Given the description of an element on the screen output the (x, y) to click on. 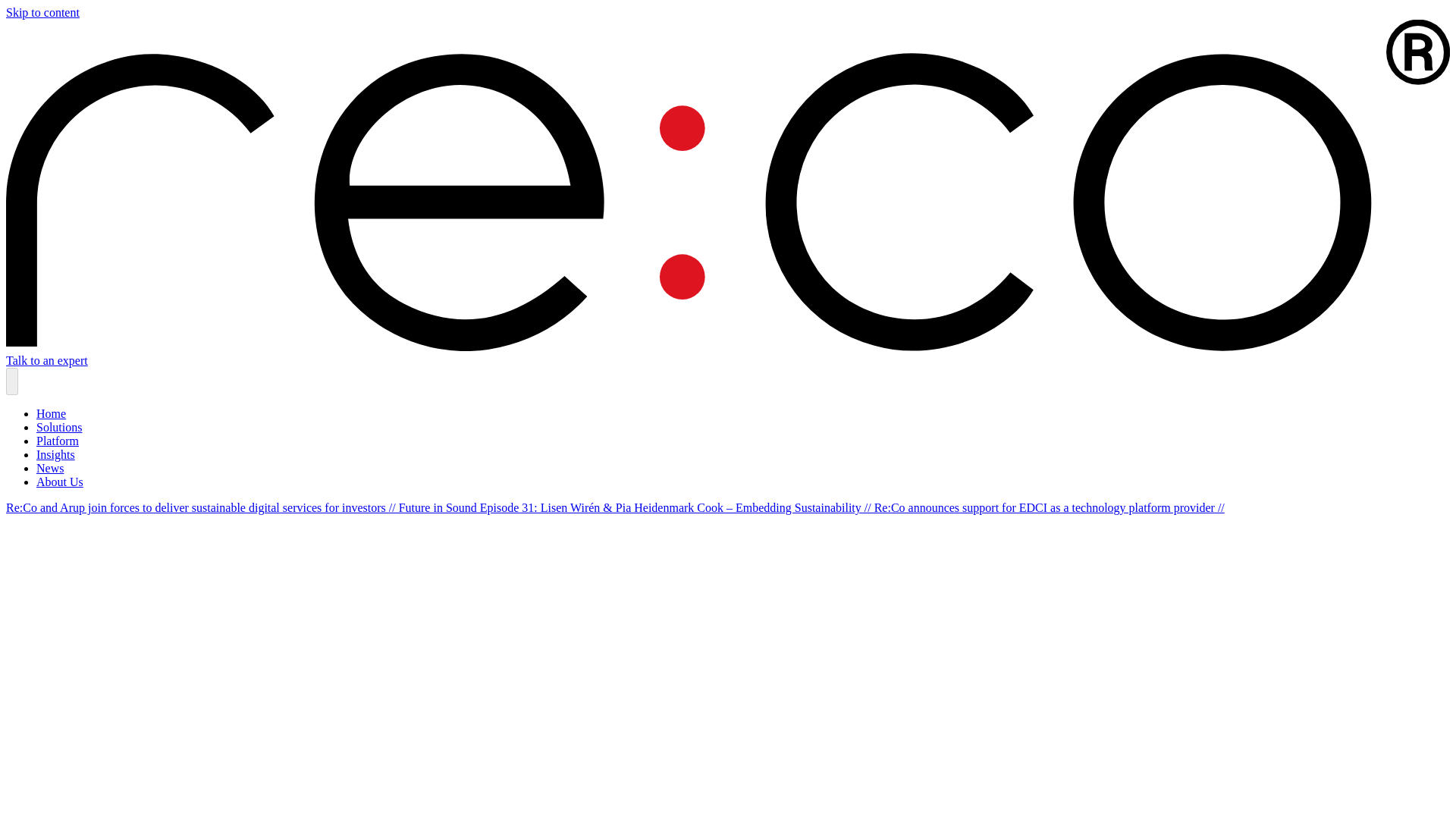
About Us (59, 481)
Solutions (58, 427)
Platform (57, 440)
Insights (55, 454)
News (50, 468)
Home (50, 413)
Talk to an expert (46, 359)
Skip to content (42, 11)
